Given the description of an element on the screen output the (x, y) to click on. 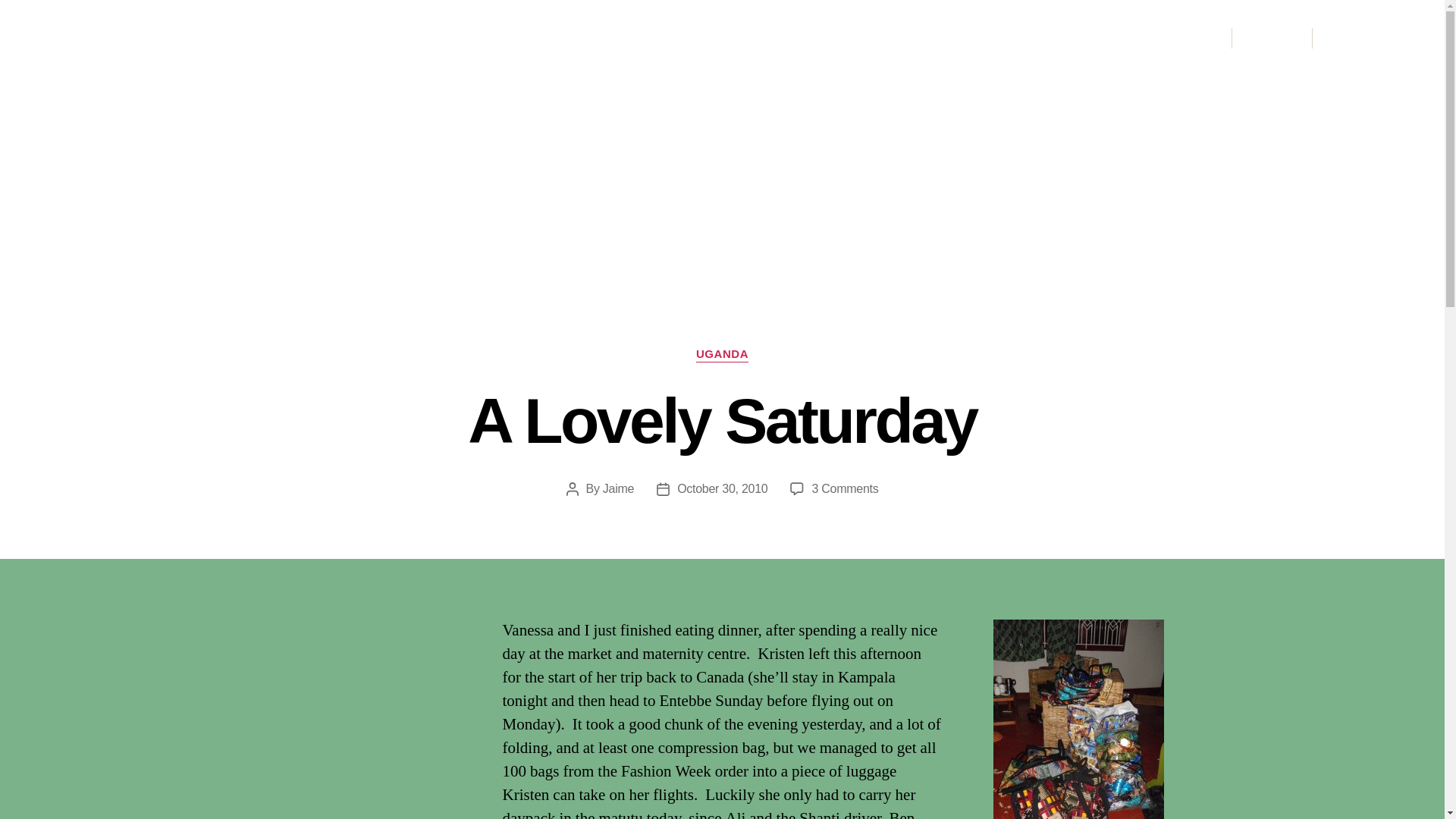
Home (1019, 37)
October 30, 2010 (722, 488)
Peru (1121, 37)
Uganda (1176, 37)
IMGP0341 (1077, 719)
Search (1350, 37)
Menu (1271, 37)
About (843, 488)
In Loving Memory (1073, 37)
Jaime On The Road (932, 37)
Jaime (162, 37)
UGANDA (617, 488)
